Given the description of an element on the screen output the (x, y) to click on. 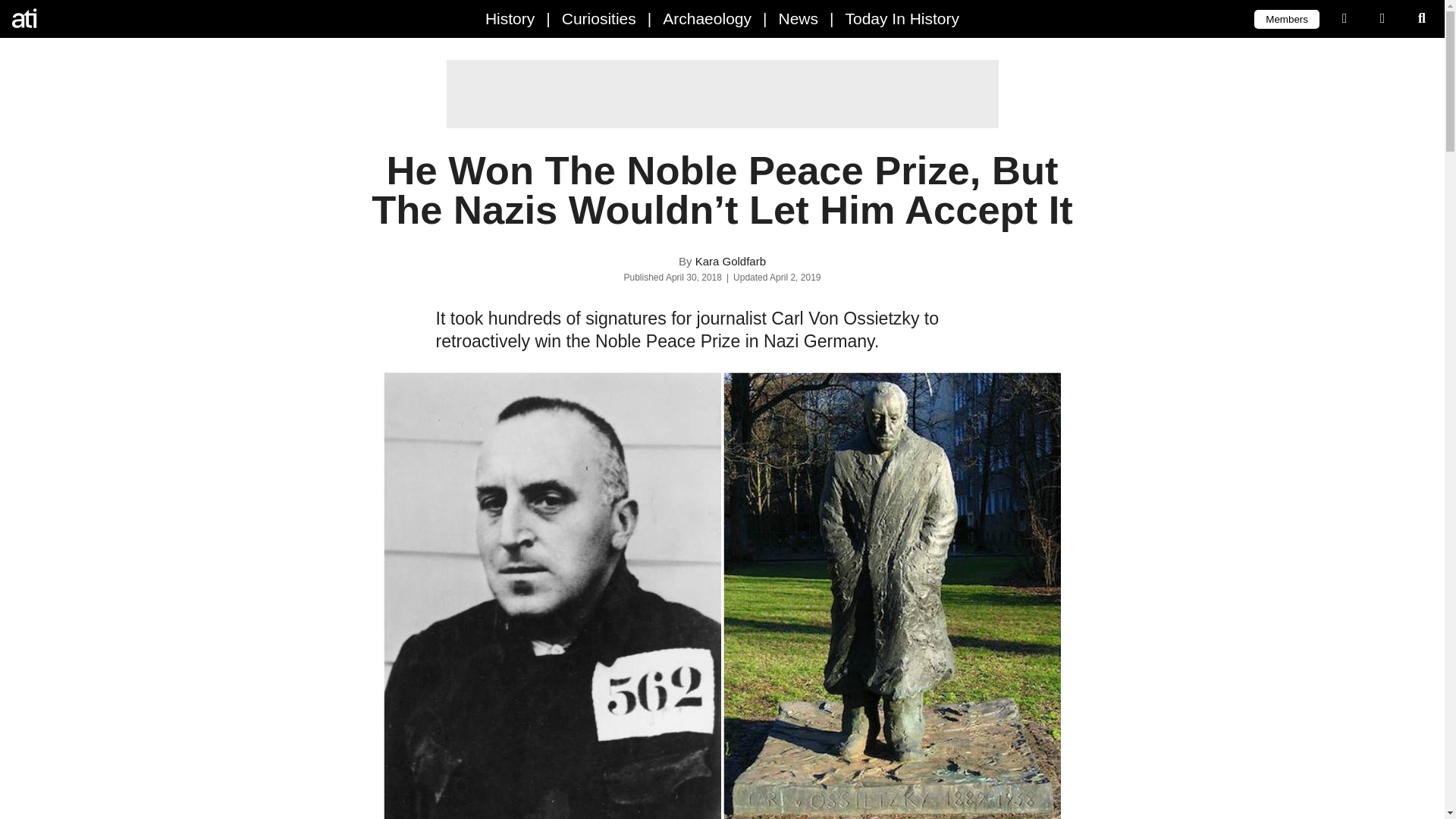
Archaeology (706, 18)
History (510, 18)
Today In History (901, 18)
News (798, 18)
Members (1286, 18)
All That's Interesting (75, 18)
Kara Goldfarb (730, 260)
Curiosities (598, 18)
